Given the description of an element on the screen output the (x, y) to click on. 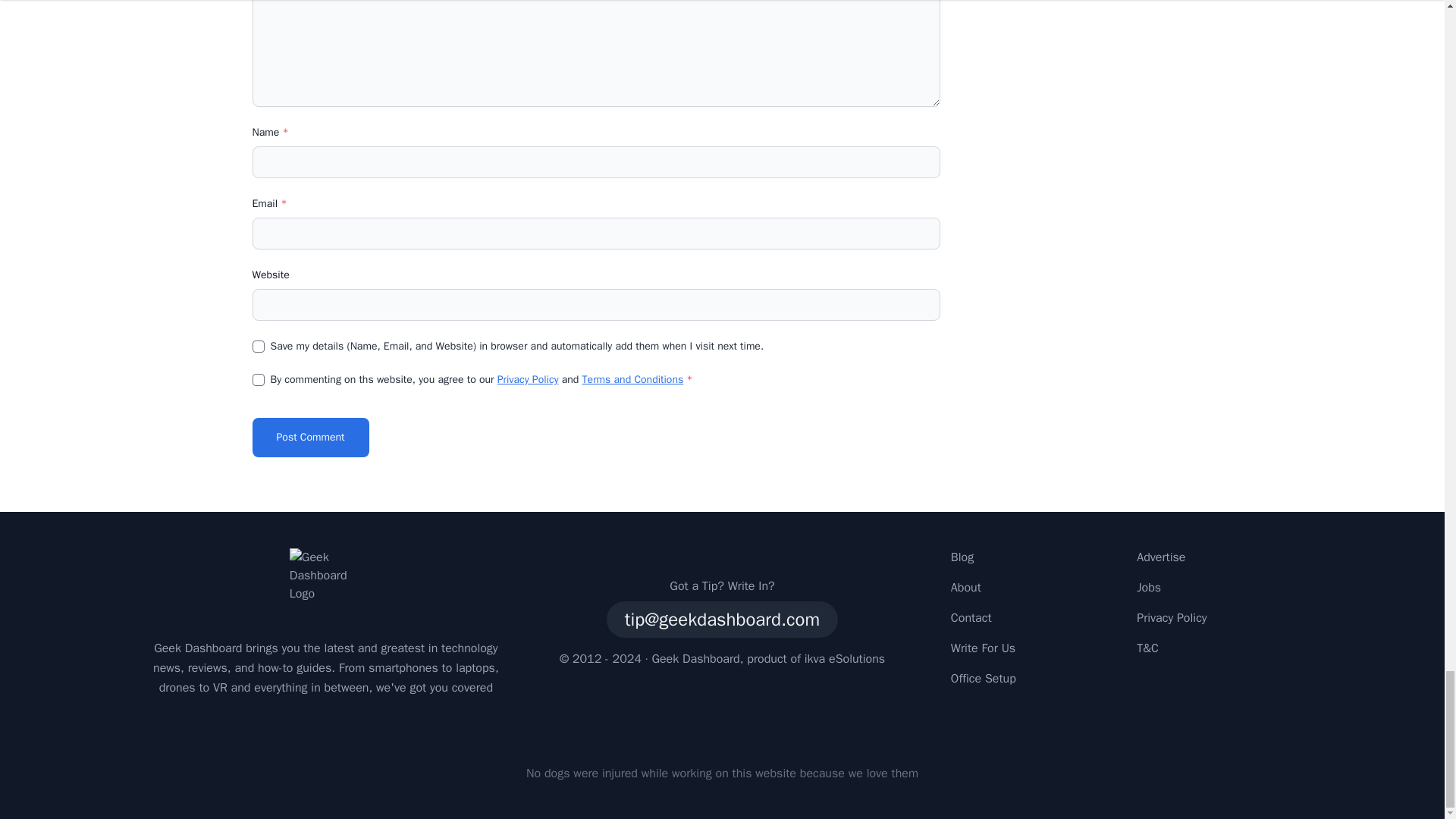
yes (257, 346)
Post Comment (309, 437)
on (257, 379)
